Given the description of an element on the screen output the (x, y) to click on. 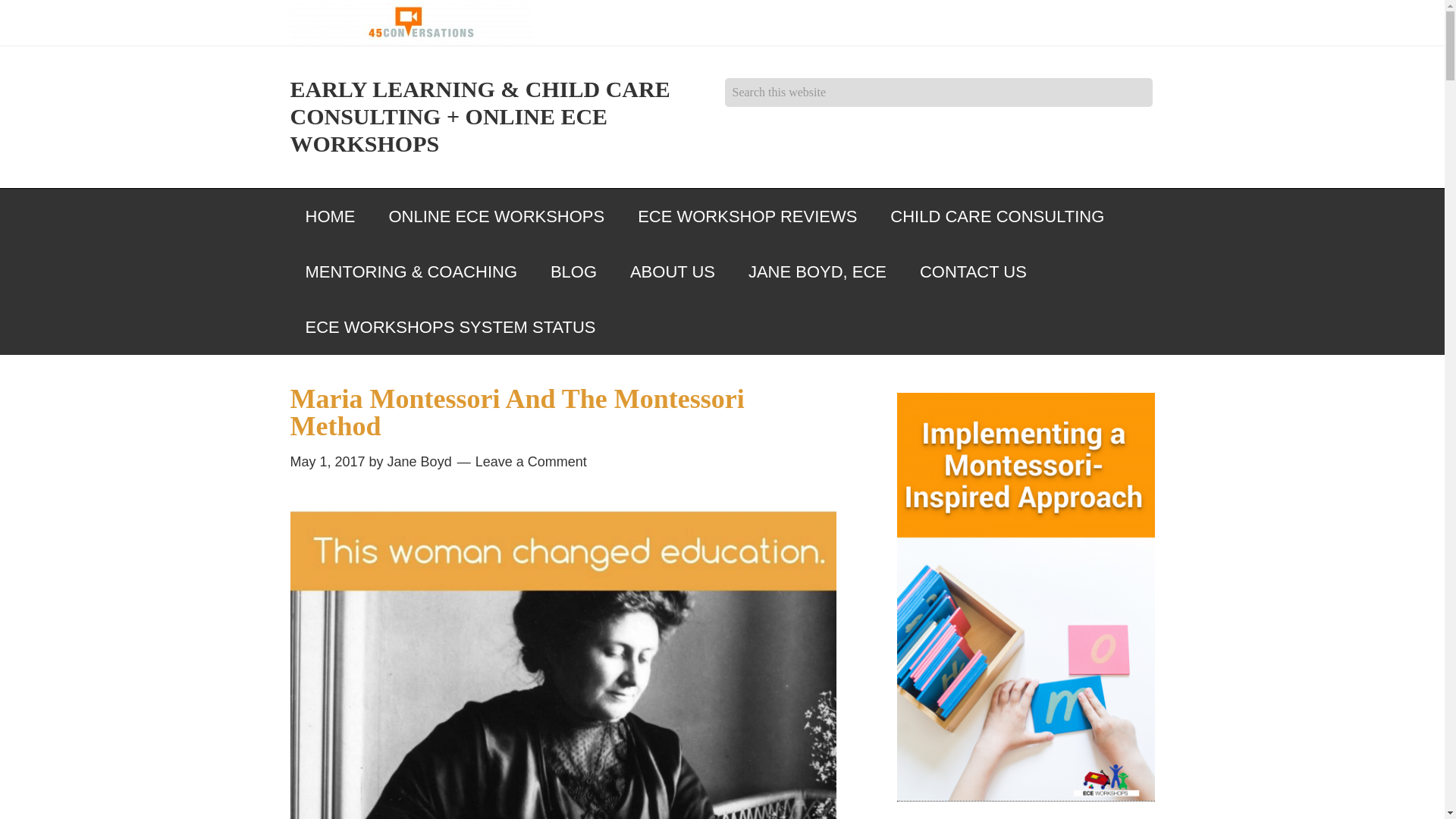
CHILD CARE CONSULTING (997, 216)
About Us (672, 271)
HOME (329, 216)
ONLINE ECE WORKSHOPS (496, 216)
CONTACT US (973, 271)
JANE BOYD, ECE (817, 271)
ECE WORKSHOPS SYSTEM STATUS (449, 326)
Leave a Comment (531, 461)
BLOG (573, 271)
ABOUT US (672, 271)
ECE WORKSHOP REVIEWS (747, 216)
Jane Boyd (419, 461)
